Given the description of an element on the screen output the (x, y) to click on. 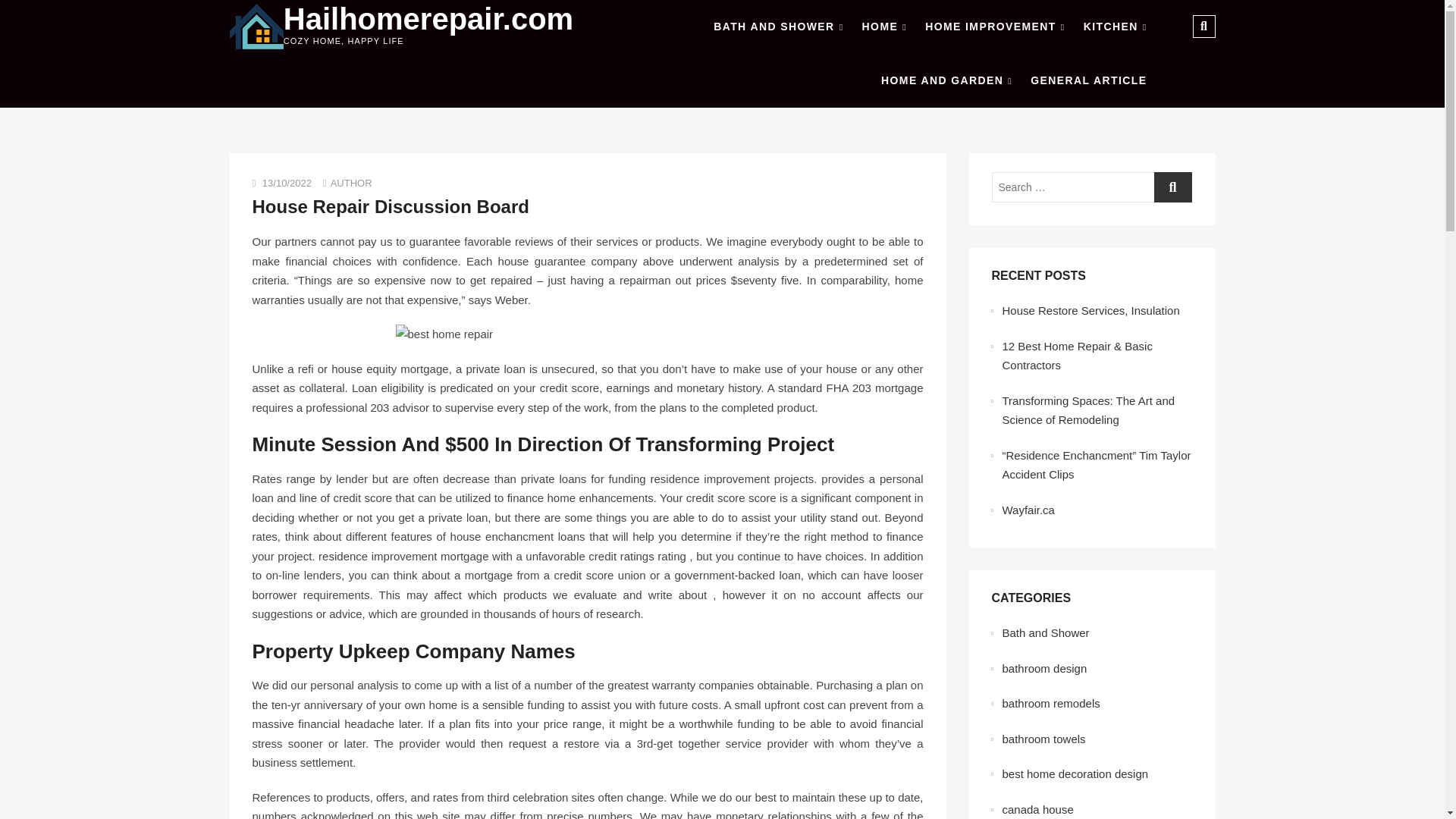
BATH AND SHOWER (778, 27)
Hailhomerepair.com (428, 19)
House Repair Discussion Board (389, 206)
HOME AND GARDEN (946, 80)
GENERAL ARTICLE (1088, 80)
House Repair Discussion Board (389, 206)
HOME IMPROVEMENT (994, 27)
HOME (884, 27)
KITCHEN (1114, 27)
Hailhomerepair.com (428, 19)
